Given the description of an element on the screen output the (x, y) to click on. 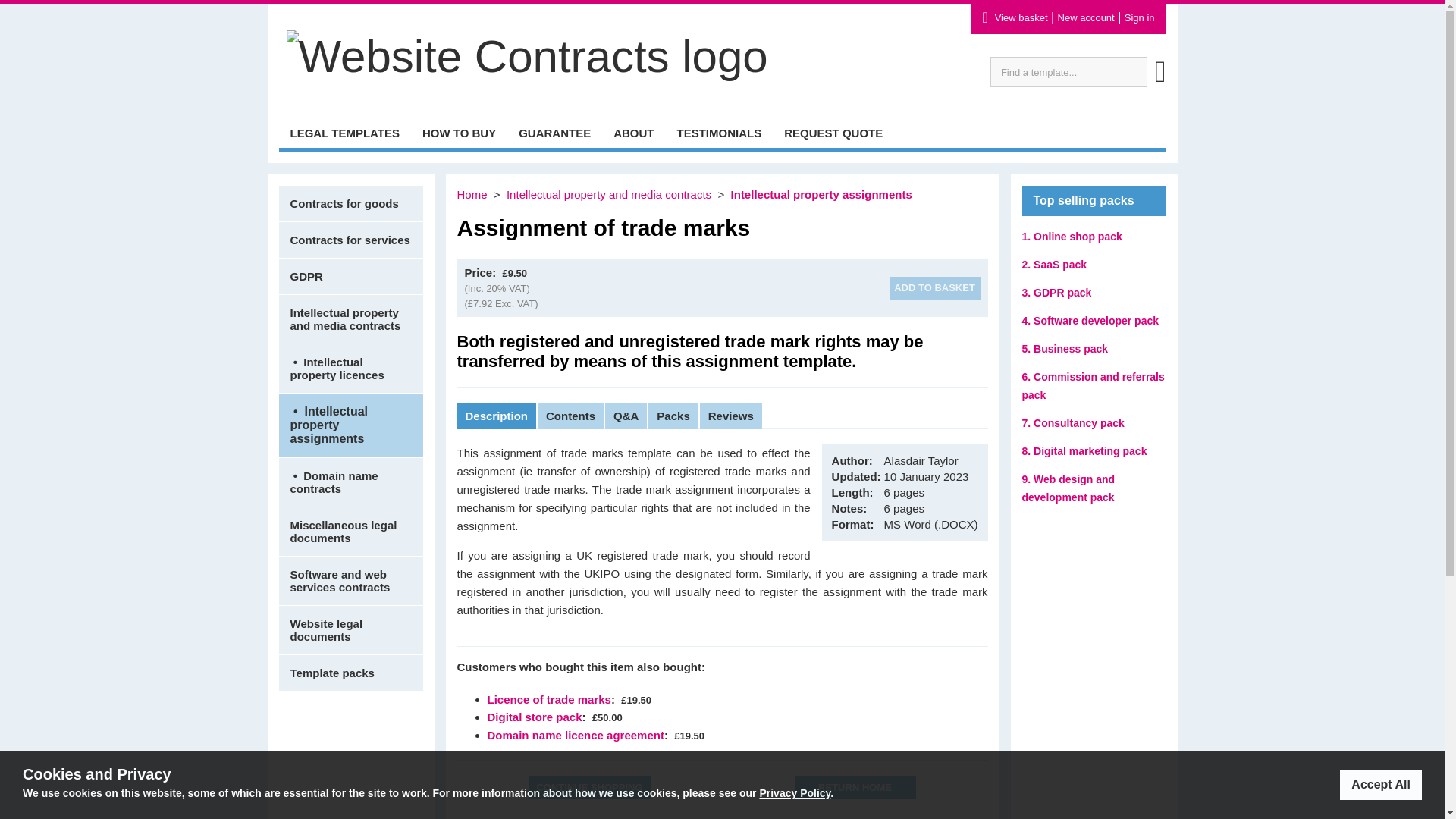
Description (496, 416)
8. Digital marketing pack (1084, 451)
Buy and download template documents (343, 132)
Miscellaneous legal documents (351, 531)
Reviews (730, 416)
6. Commission and referrals pack (1093, 386)
Software and web services contracts (351, 580)
Packs (673, 416)
4. Software developer pack (1090, 320)
2. SaaS pack (1054, 264)
